Given the description of an element on the screen output the (x, y) to click on. 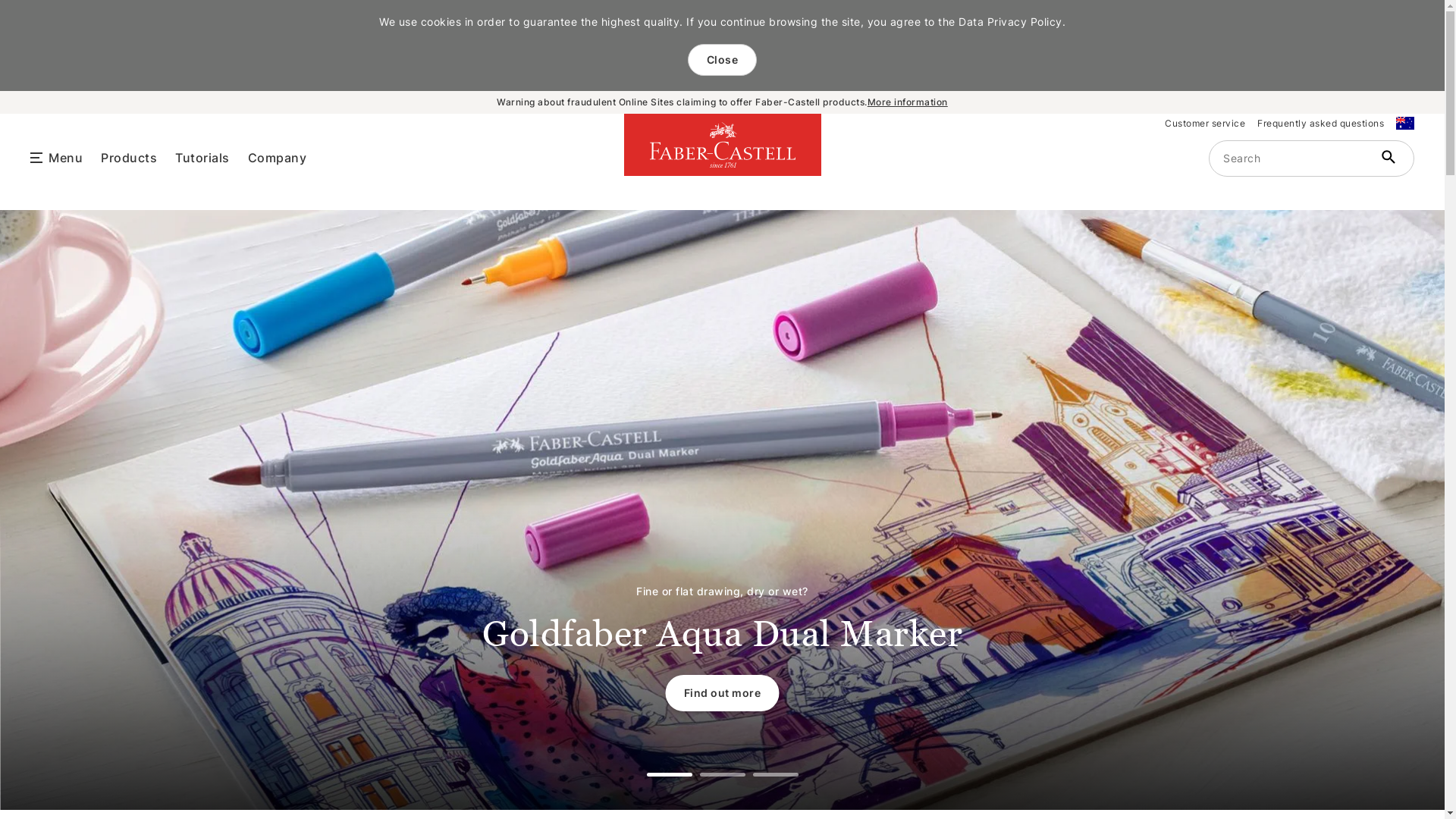
Products Element type: text (128, 156)
More information Element type: text (907, 102)
Tutorials Element type: text (202, 156)
Logo-FC-SVG Element type: hover (722, 144)
Menu Element type: text (65, 156)
Find out more Element type: text (722, 692)
Frequently asked questions Element type: text (1320, 123)
Company Element type: text (276, 156)
Customer service Element type: text (1204, 123)
Close Element type: text (722, 59)
